Given the description of an element on the screen output the (x, y) to click on. 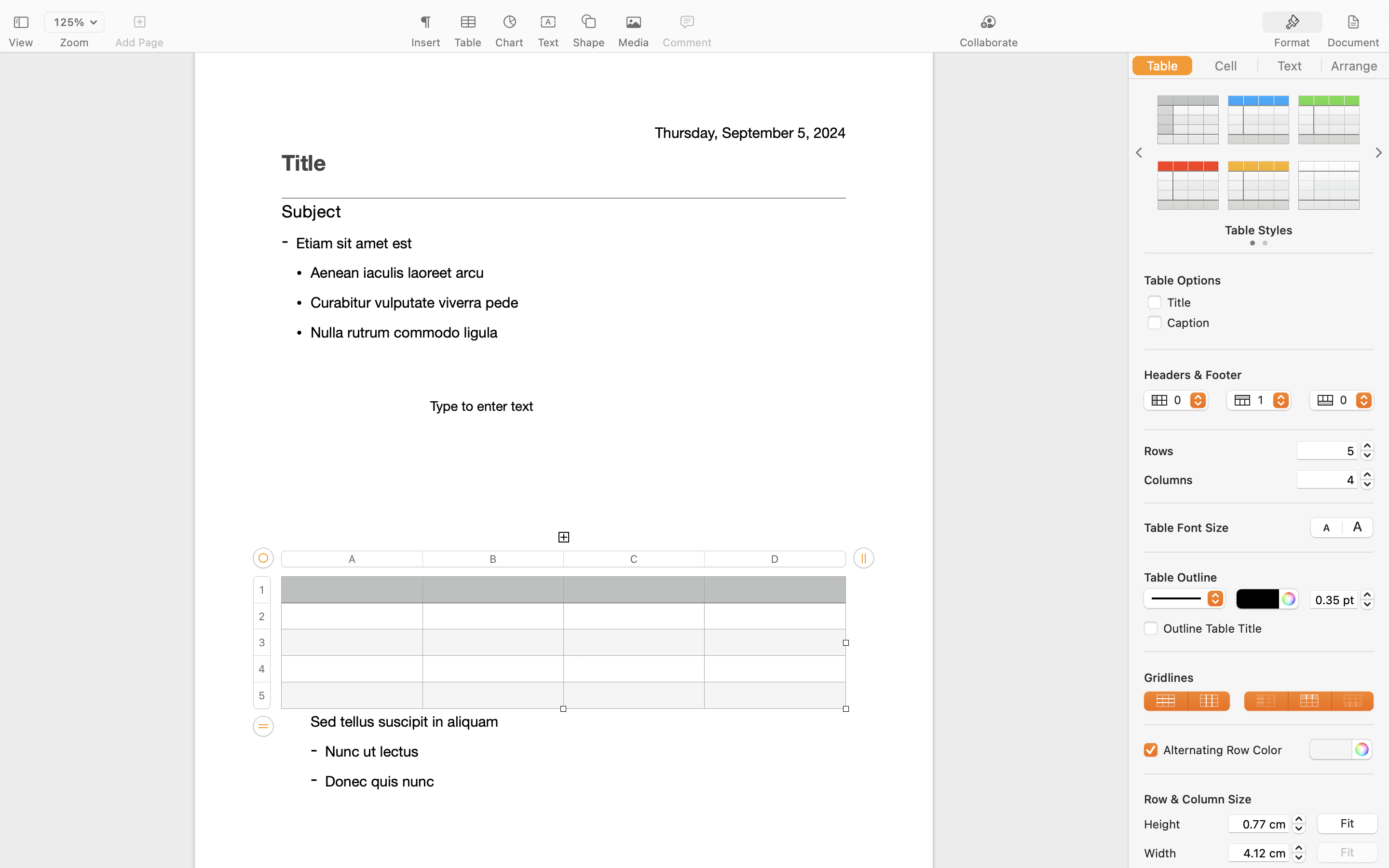
Gridlines Element type: AXStaticText (1258, 677)
0.3499999940395355 Element type: AXIncrementor (1367, 598)
4.0 Element type: AXIncrementor (1367, 478)
Learn More Element type: AXStaticText (562, 309)
Row & Column Size Element type: AXStaticText (1197, 798)
